Given the description of an element on the screen output the (x, y) to click on. 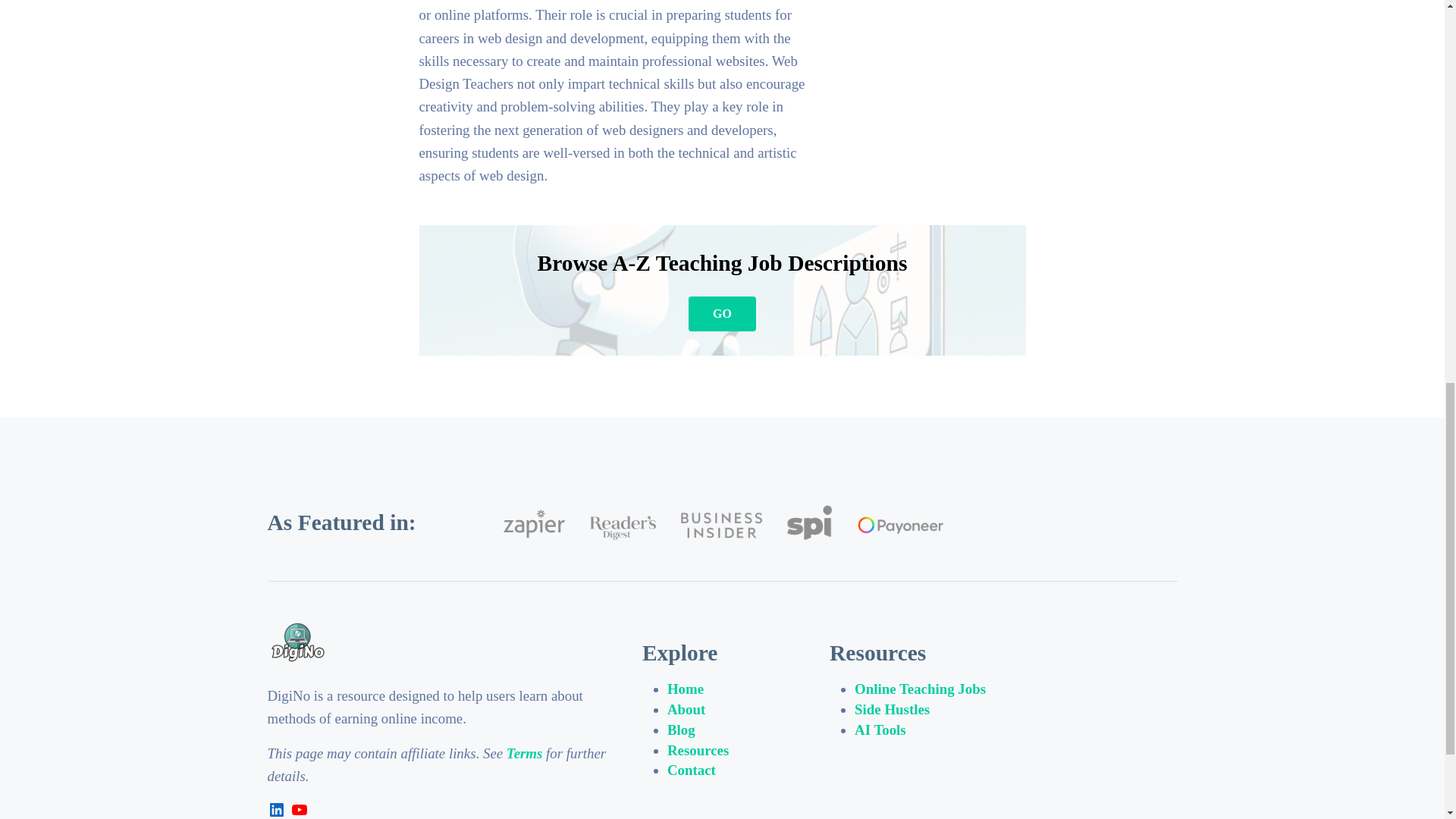
Online Teaching Jobs (919, 688)
LinkedIn (275, 809)
Terms (524, 753)
Contact (691, 770)
Resources (697, 750)
Side Hustles (892, 709)
AI Tools (879, 729)
YouTube (298, 809)
Home (684, 688)
GO (721, 313)
